Given the description of an element on the screen output the (x, y) to click on. 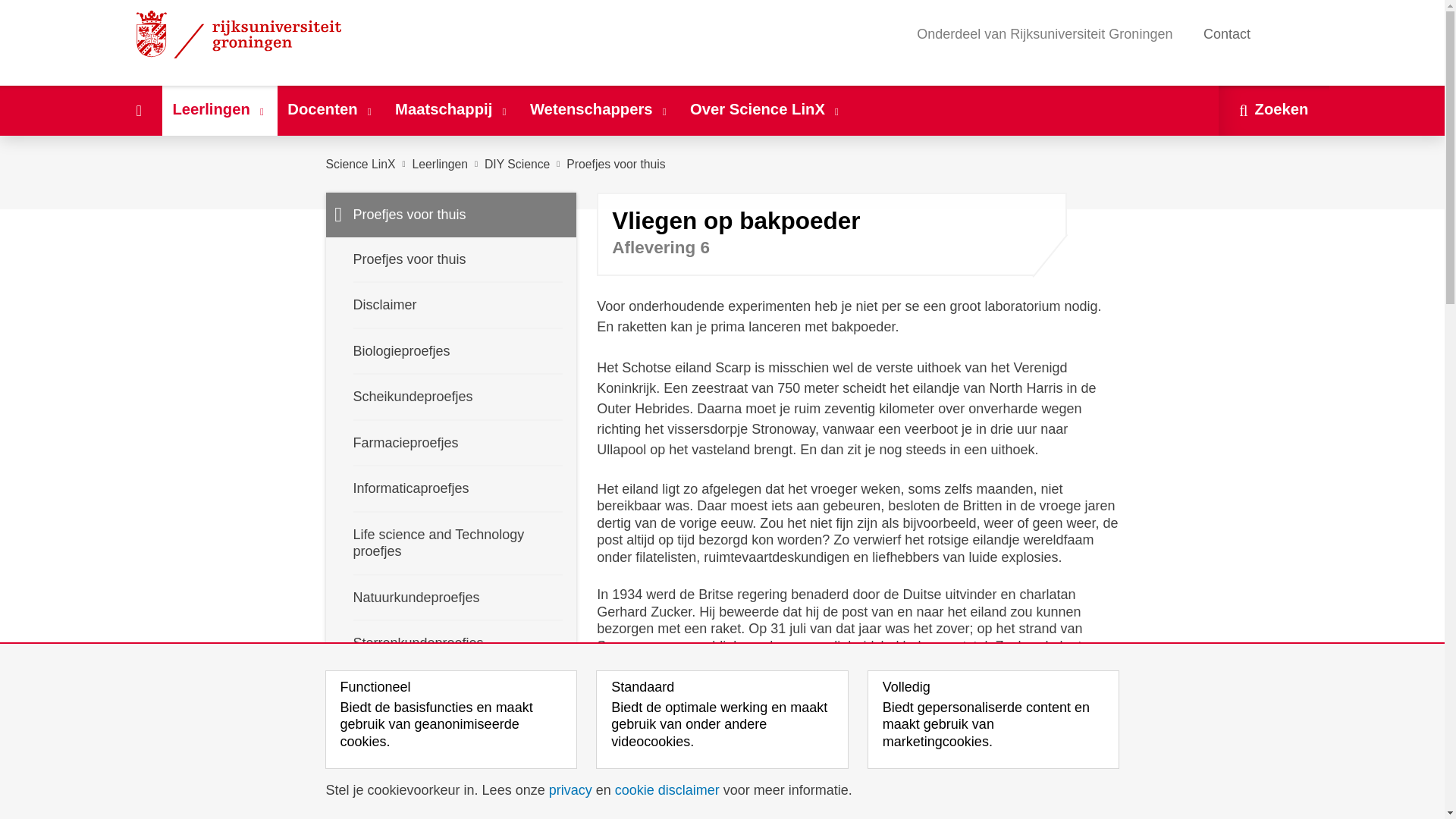
Leerlingen (219, 110)
Nederlands (1272, 33)
Docenten (331, 110)
Taal selectie (1286, 34)
Over Science LinX (765, 110)
Home (138, 110)
English (1293, 33)
Maatschappij (452, 110)
Wetenschappers (599, 110)
